Given the description of an element on the screen output the (x, y) to click on. 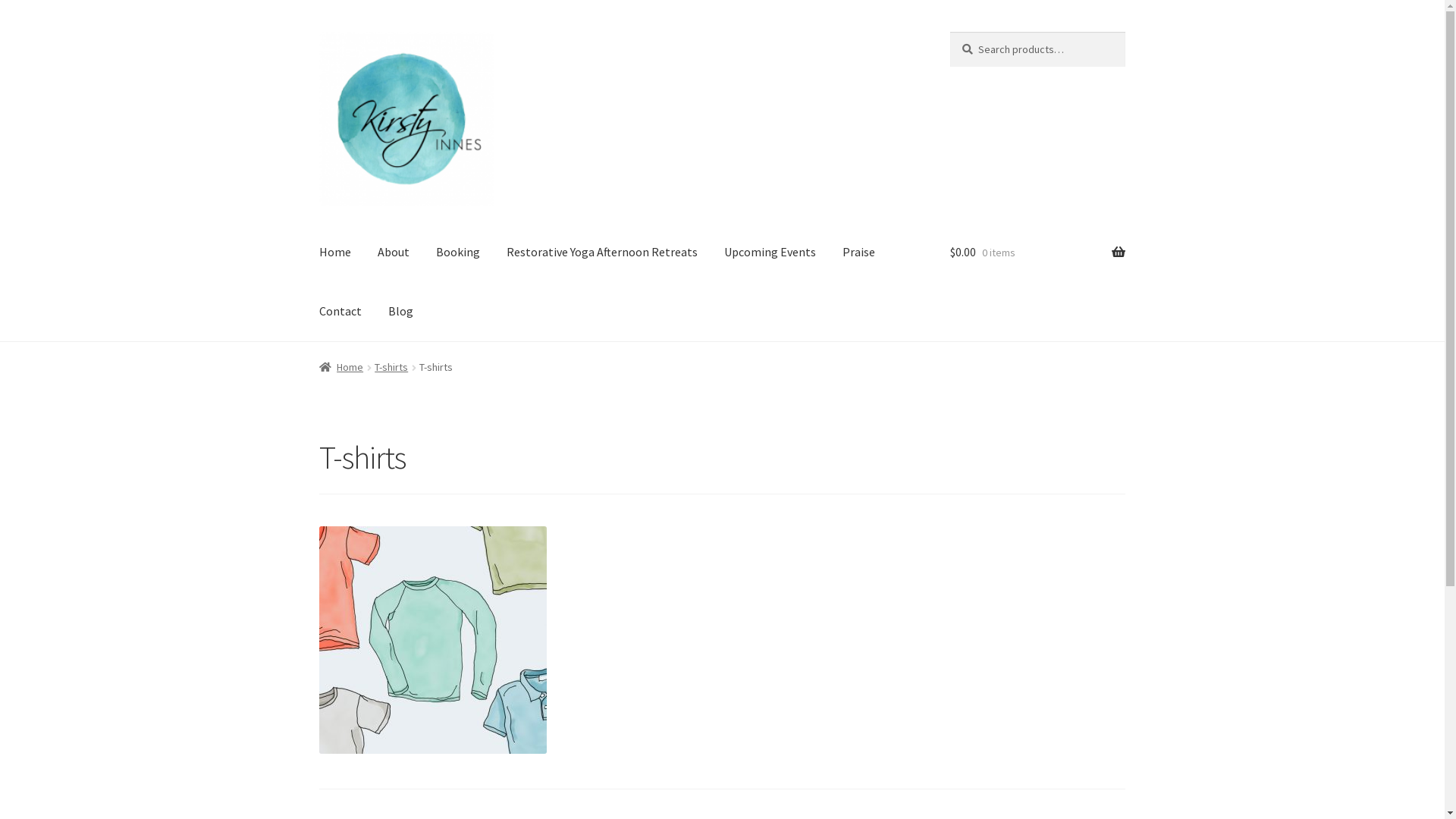
Upcoming Events Element type: text (770, 252)
$0.00 0 items Element type: text (1037, 252)
Home Element type: text (335, 252)
Skip to navigation Element type: text (318, 31)
T-shirts Element type: text (390, 366)
About Element type: text (393, 252)
Home Element type: text (341, 366)
Blog Element type: text (400, 311)
Restorative Yoga Afternoon Retreats Element type: text (601, 252)
Booking Element type: text (457, 252)
Contact Element type: text (340, 311)
Praise Element type: text (858, 252)
Search Element type: text (949, 31)
